Given the description of an element on the screen output the (x, y) to click on. 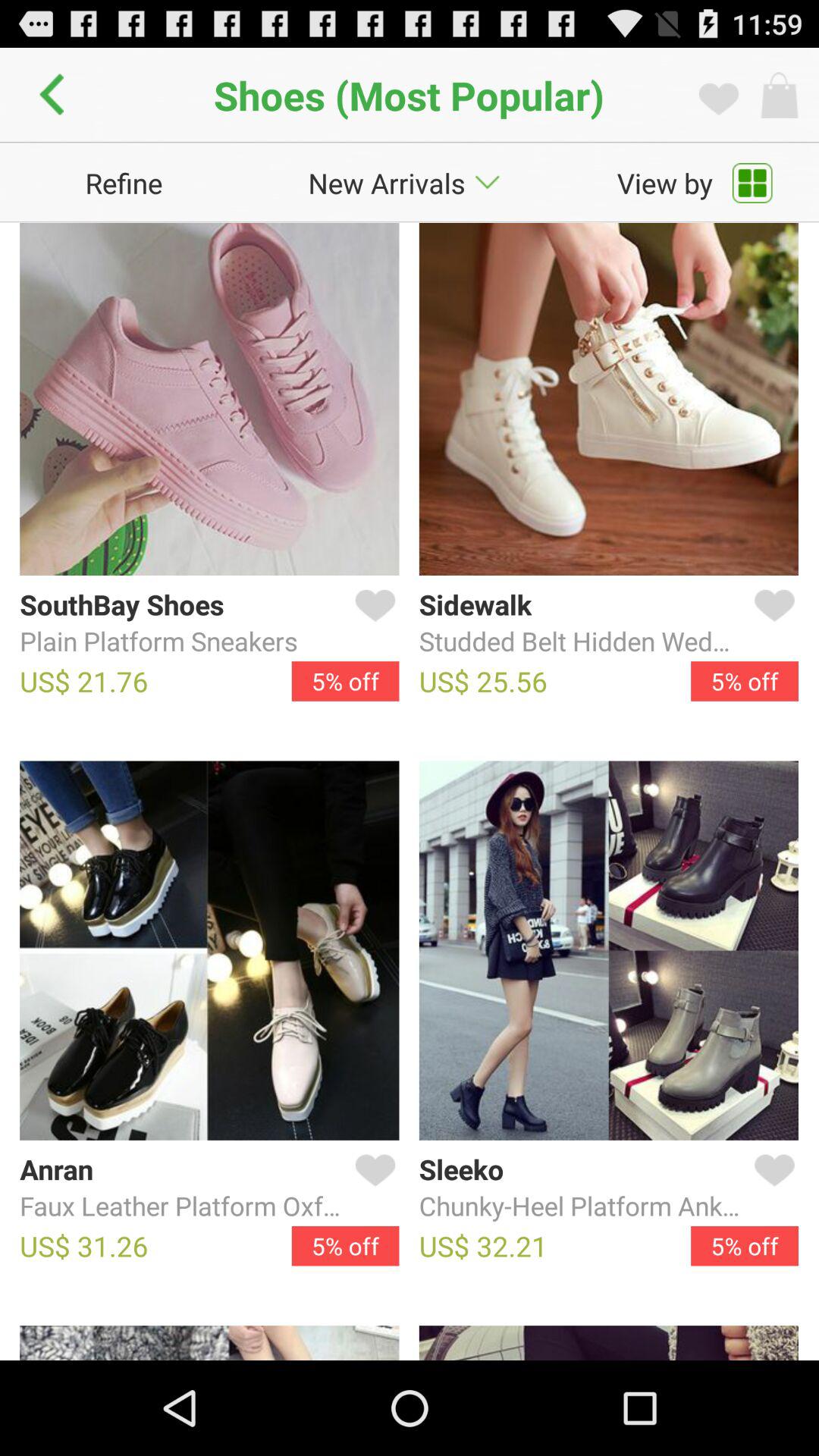
add to favorites (372, 623)
